Given the description of an element on the screen output the (x, y) to click on. 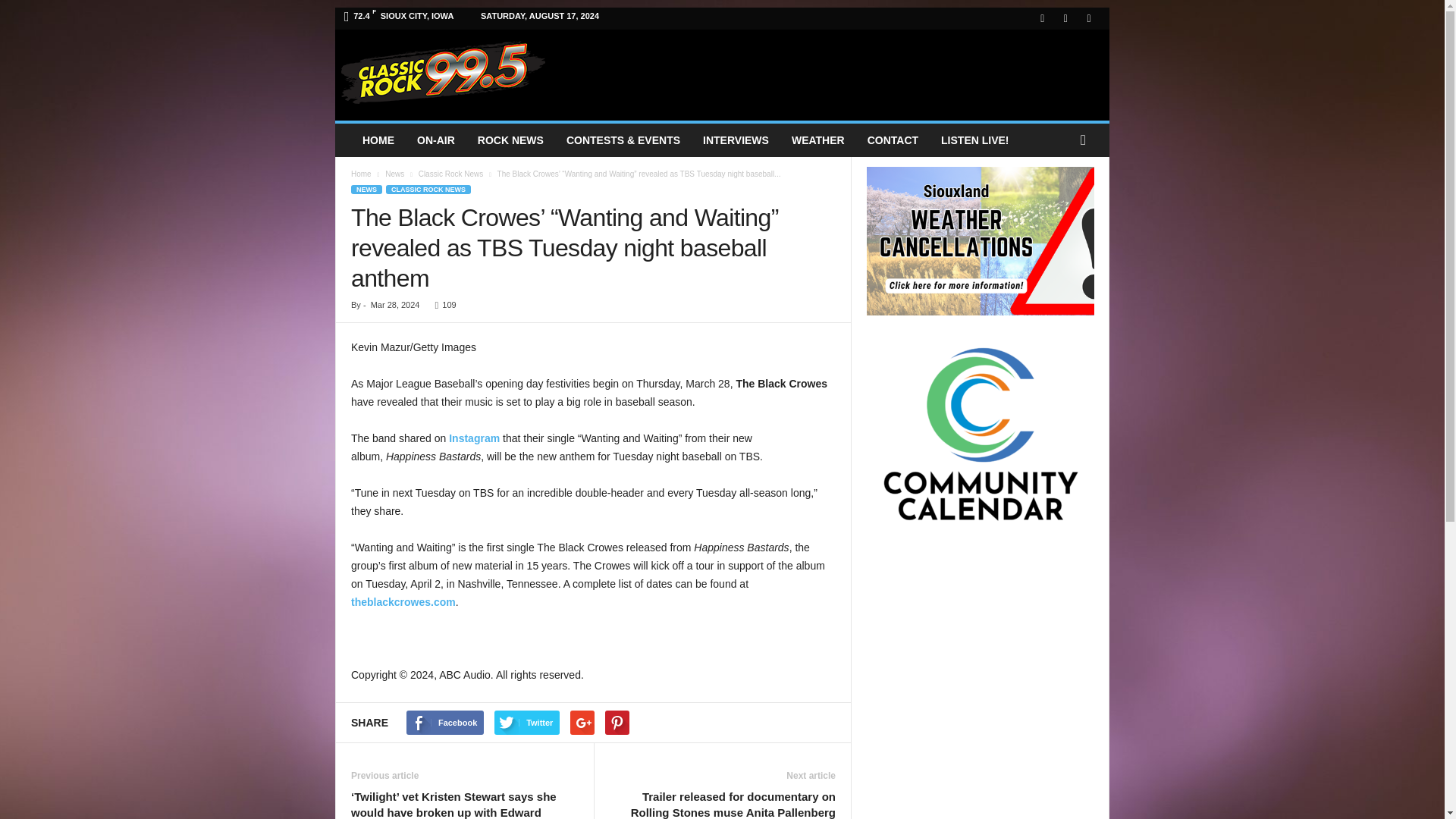
ROCK NEWS (509, 140)
Classic Rock 99.5 (442, 70)
Classic Rock 99.5 (442, 70)
HOME (378, 140)
ON-AIR (435, 140)
